Given the description of an element on the screen output the (x, y) to click on. 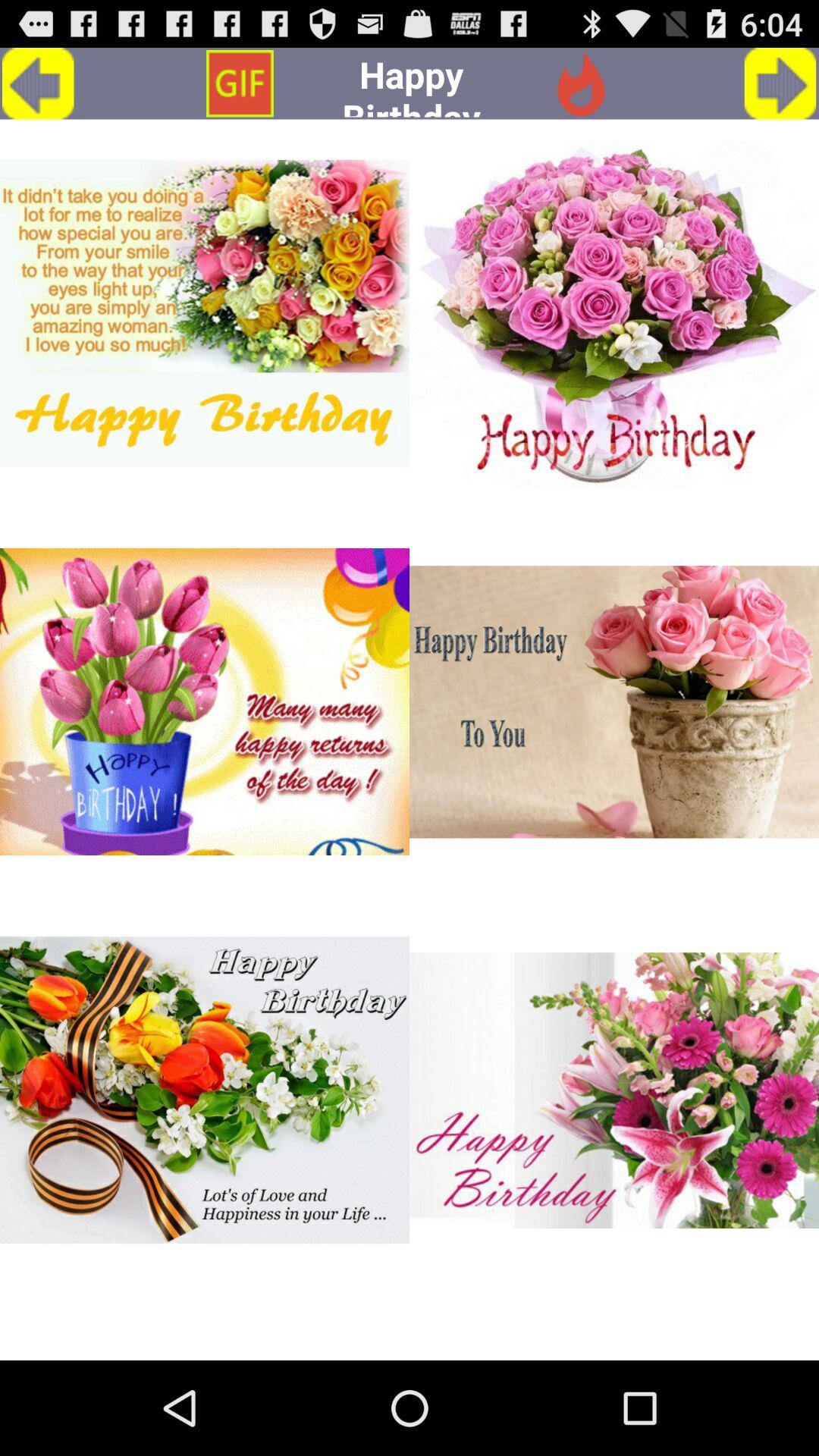
go to next (780, 83)
